Given the description of an element on the screen output the (x, y) to click on. 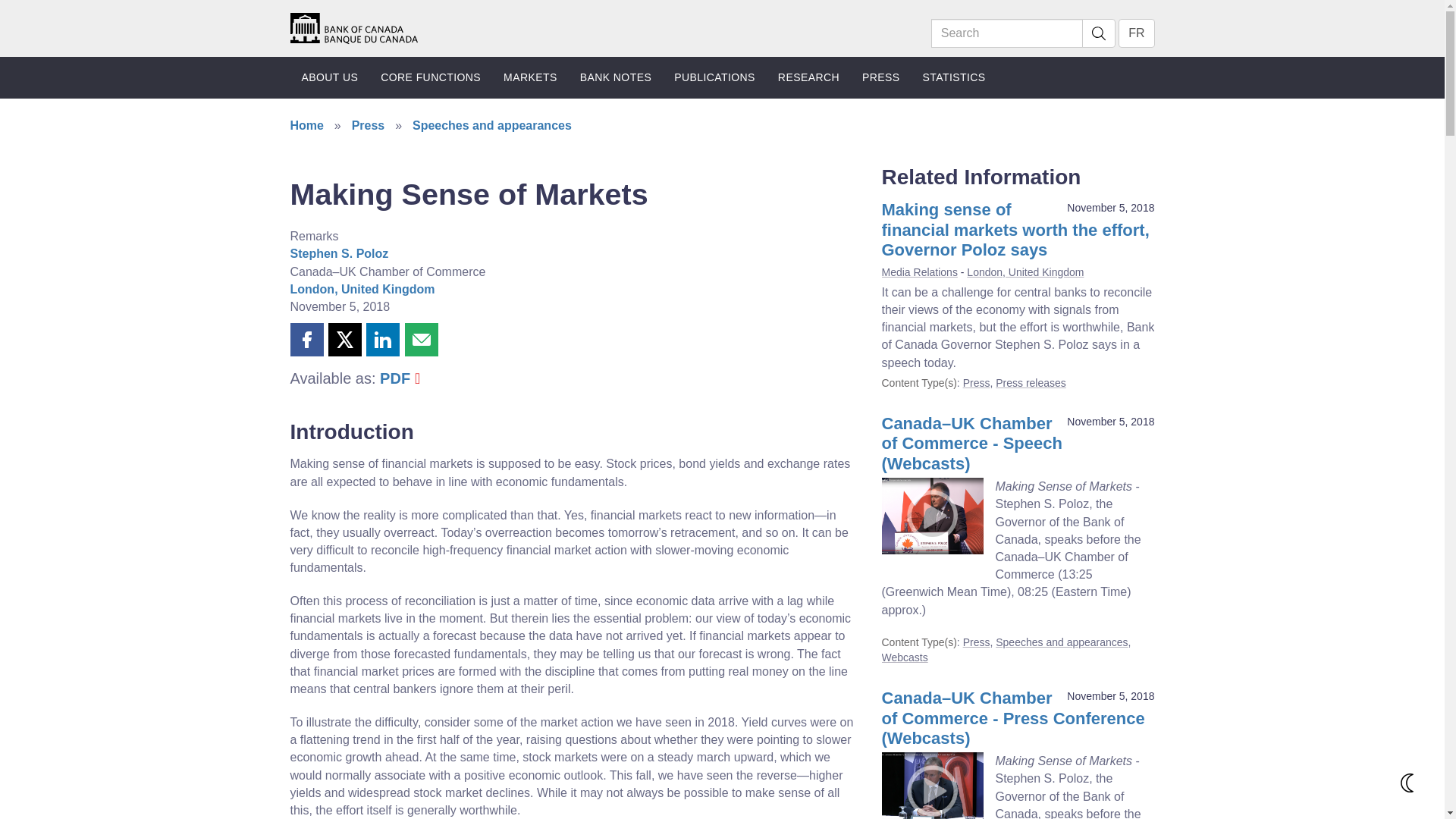
MARKETS (530, 77)
Home (352, 27)
Share this page on LinkedIn (382, 339)
Share this page by email (421, 339)
Home (352, 28)
FR (1136, 32)
Search (1098, 32)
Home (352, 27)
ABOUT US (329, 77)
Share this page on Facebook (306, 339)
Share this page on X (345, 339)
CORE FUNCTIONS (430, 77)
Search (1007, 32)
